Given the description of an element on the screen output the (x, y) to click on. 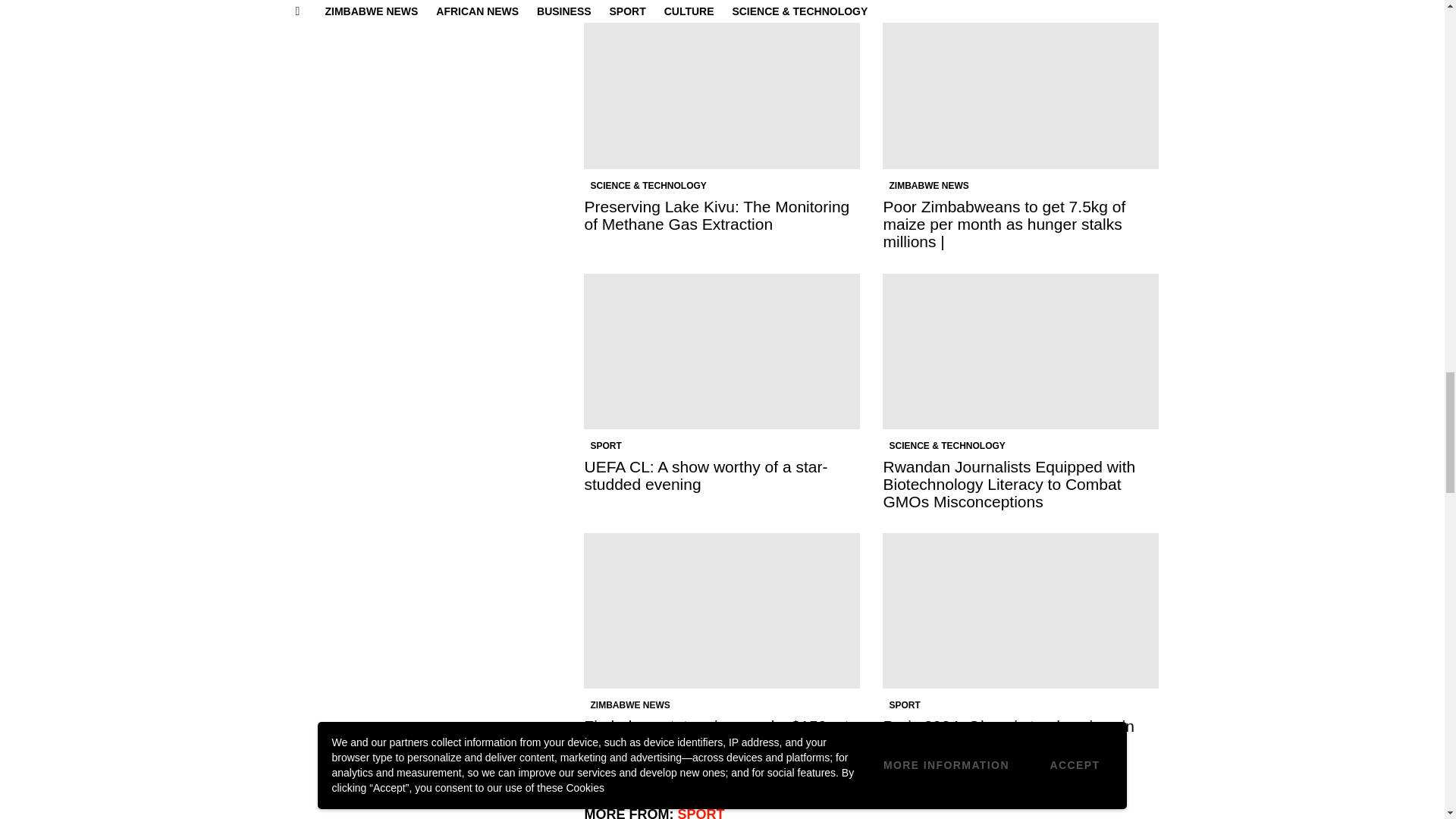
SPORT (605, 445)
ZIMBABWE NEWS (928, 185)
UEFA CL: A show worthy of a star-studded evening (721, 351)
